Given the description of an element on the screen output the (x, y) to click on. 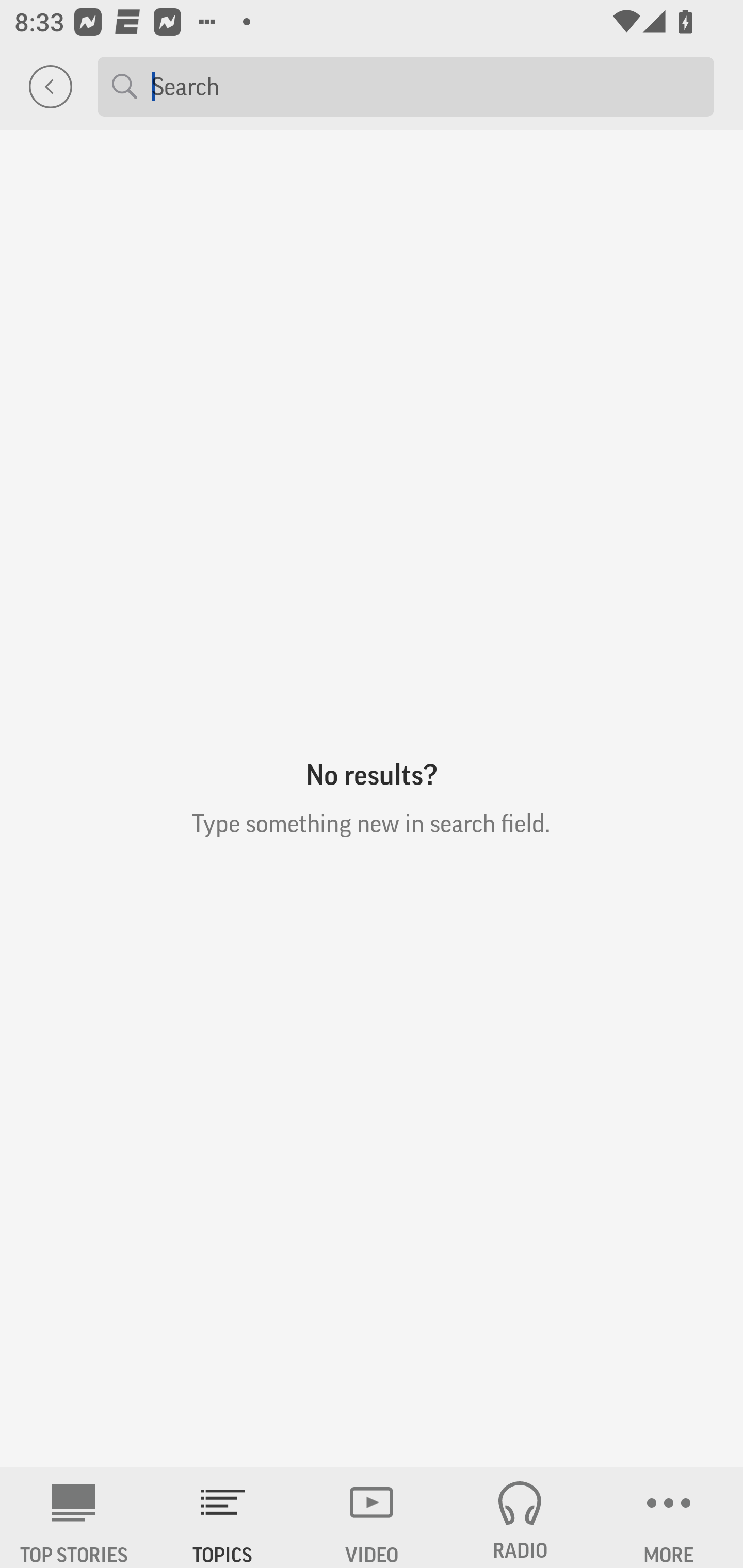
Search (425, 86)
AP News TOP STORIES (74, 1517)
TOPICS (222, 1517)
VIDEO (371, 1517)
RADIO (519, 1517)
MORE (668, 1517)
